Given the description of an element on the screen output the (x, y) to click on. 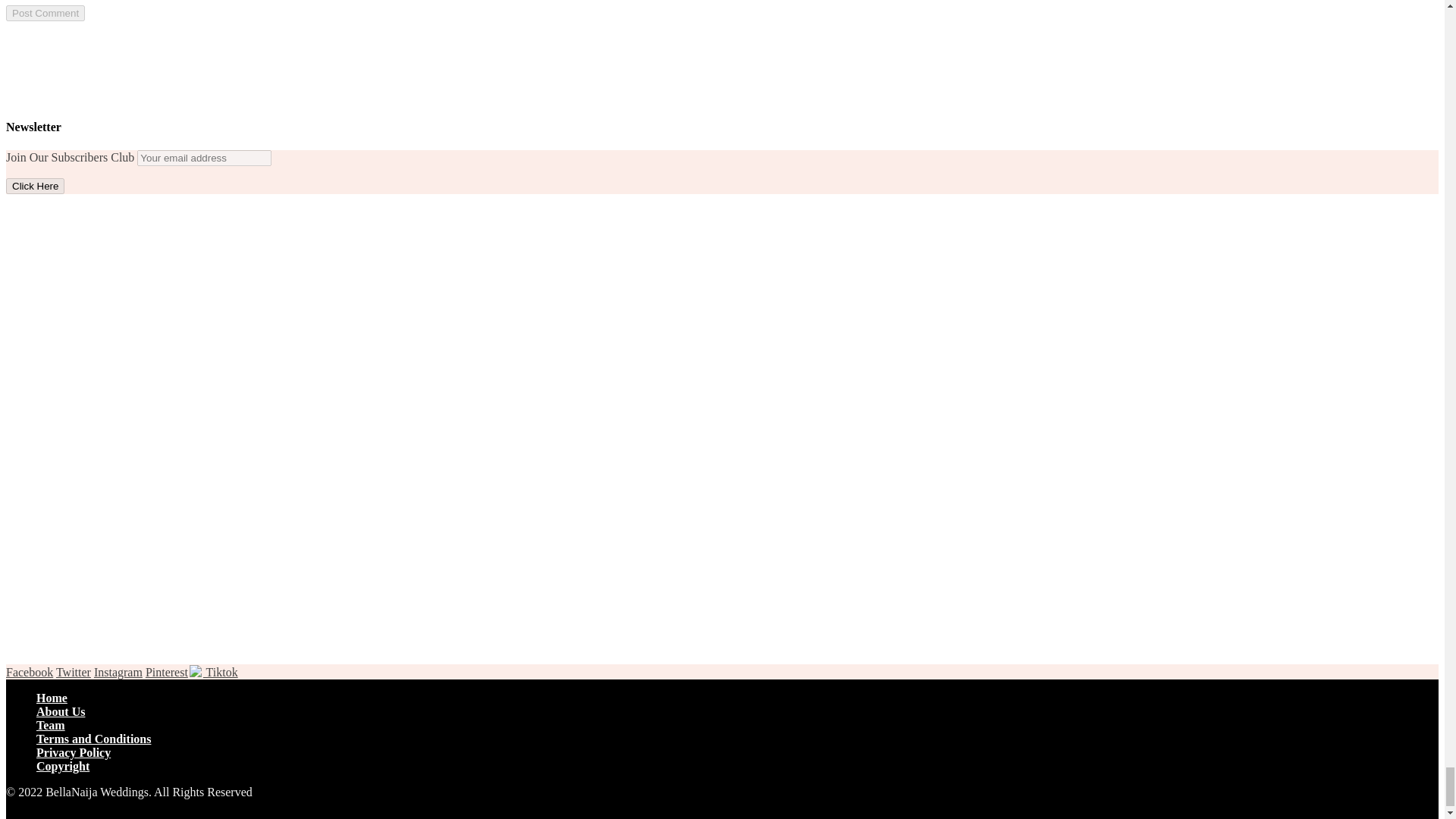
Post Comment (44, 12)
Post Comment (44, 12)
Click Here (34, 186)
